Given the description of an element on the screen output the (x, y) to click on. 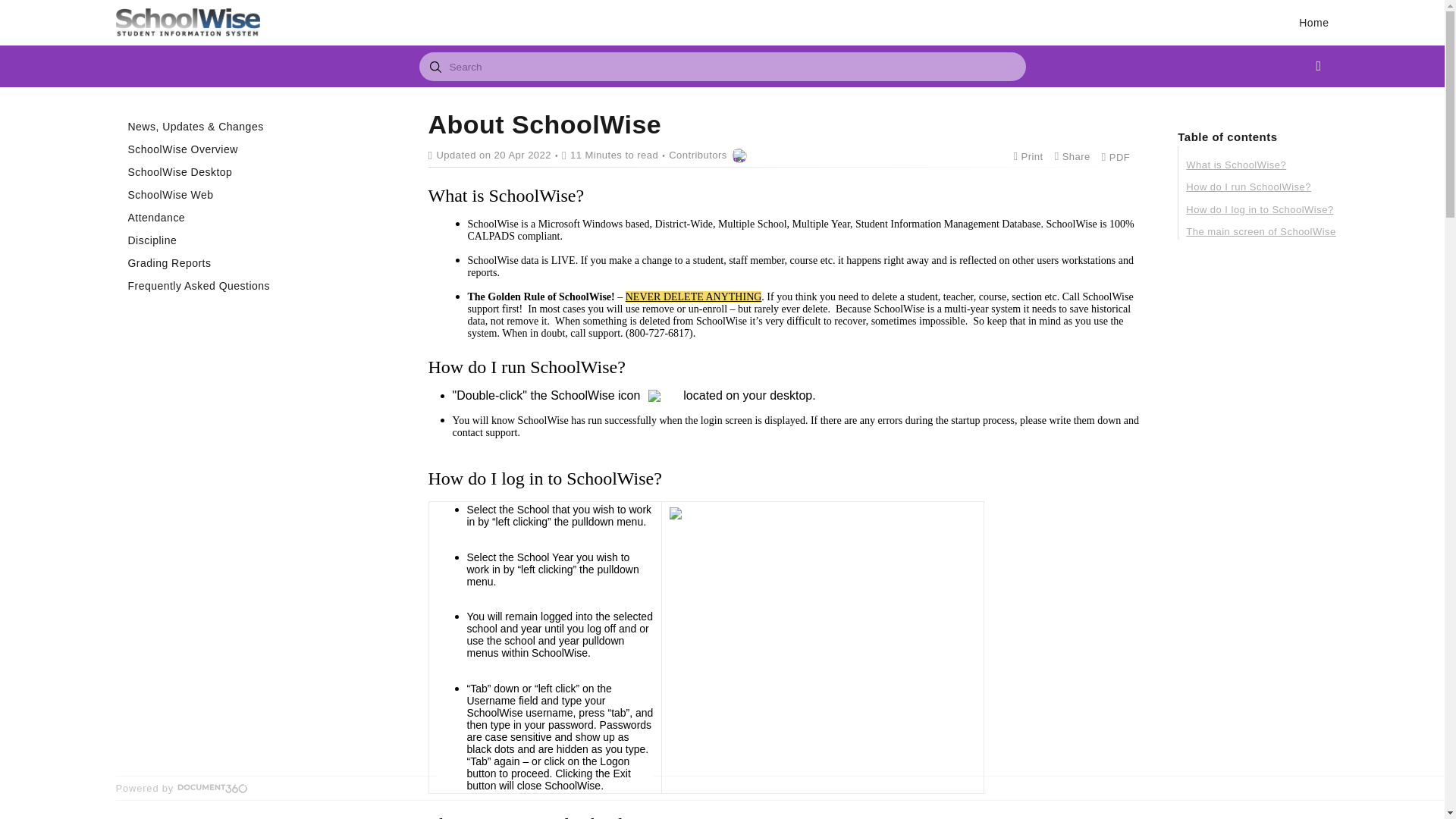
James Baird (739, 155)
Home (1312, 23)
What is SchoolWise? (1260, 165)
How do I run SchoolWise? (1260, 186)
How do I log in to SchoolWise? (1260, 209)
The main screen of SchoolWise (1260, 231)
